Given the description of an element on the screen output the (x, y) to click on. 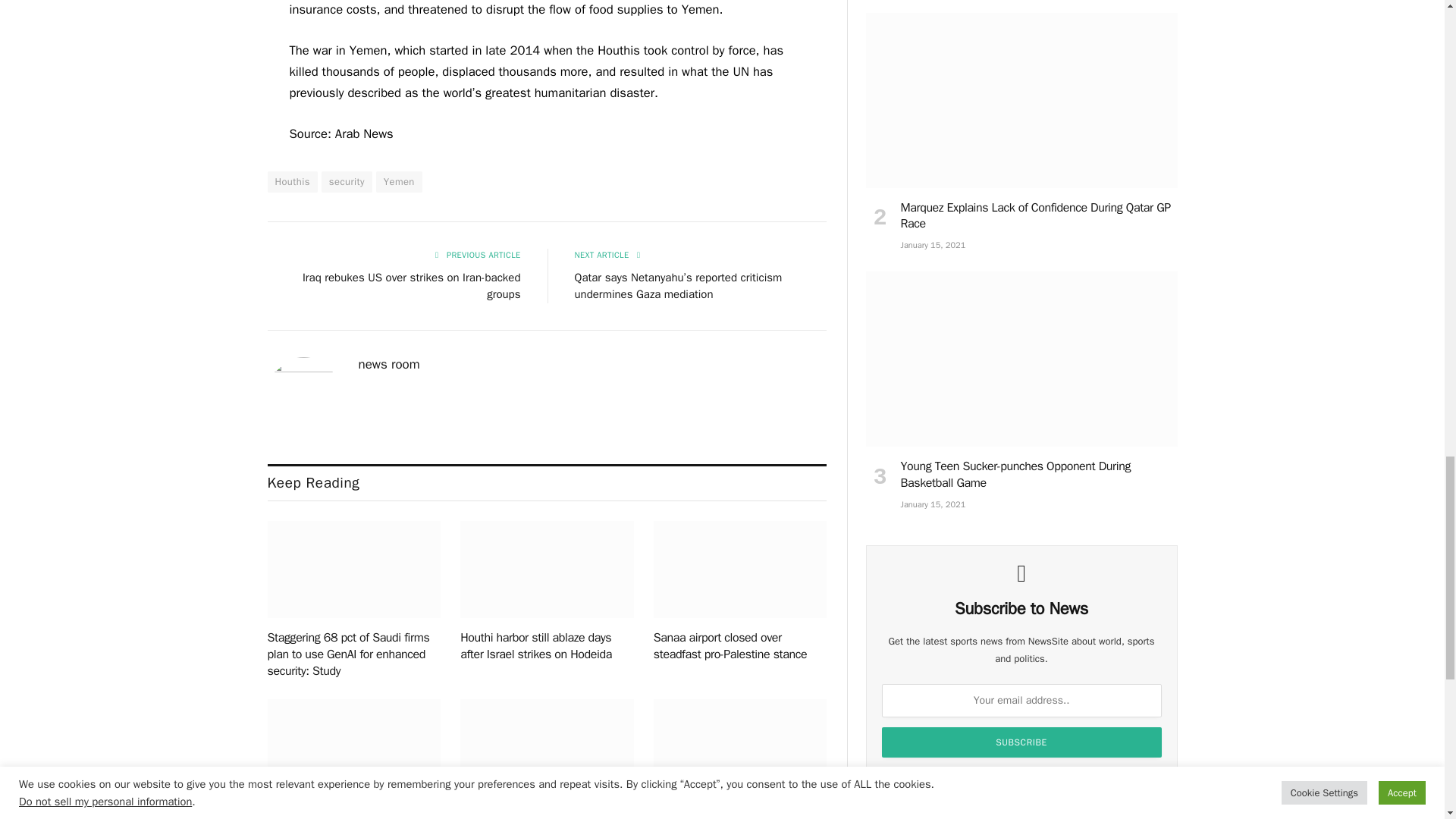
Subscribe (1021, 742)
on (898, 779)
